Given the description of an element on the screen output the (x, y) to click on. 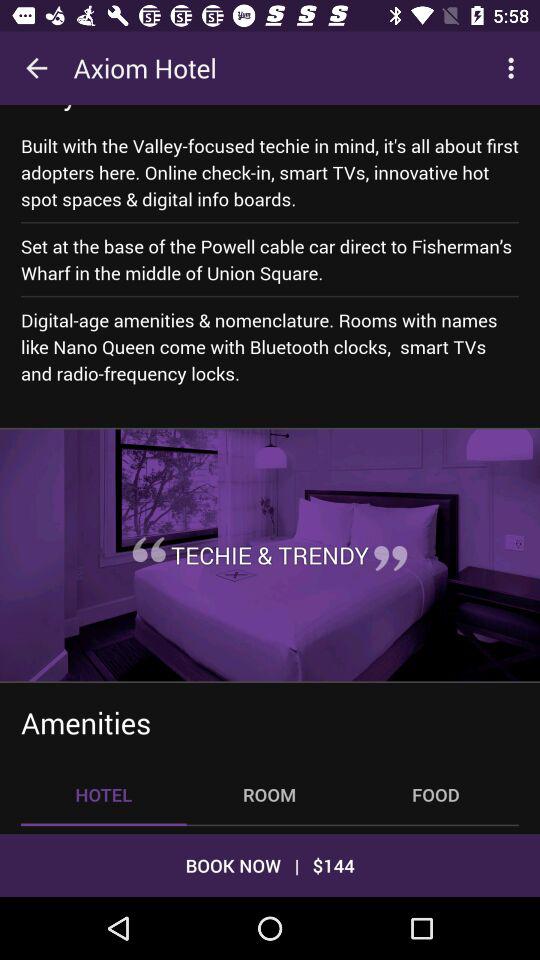
scroll until why we like (115, 108)
